Given the description of an element on the screen output the (x, y) to click on. 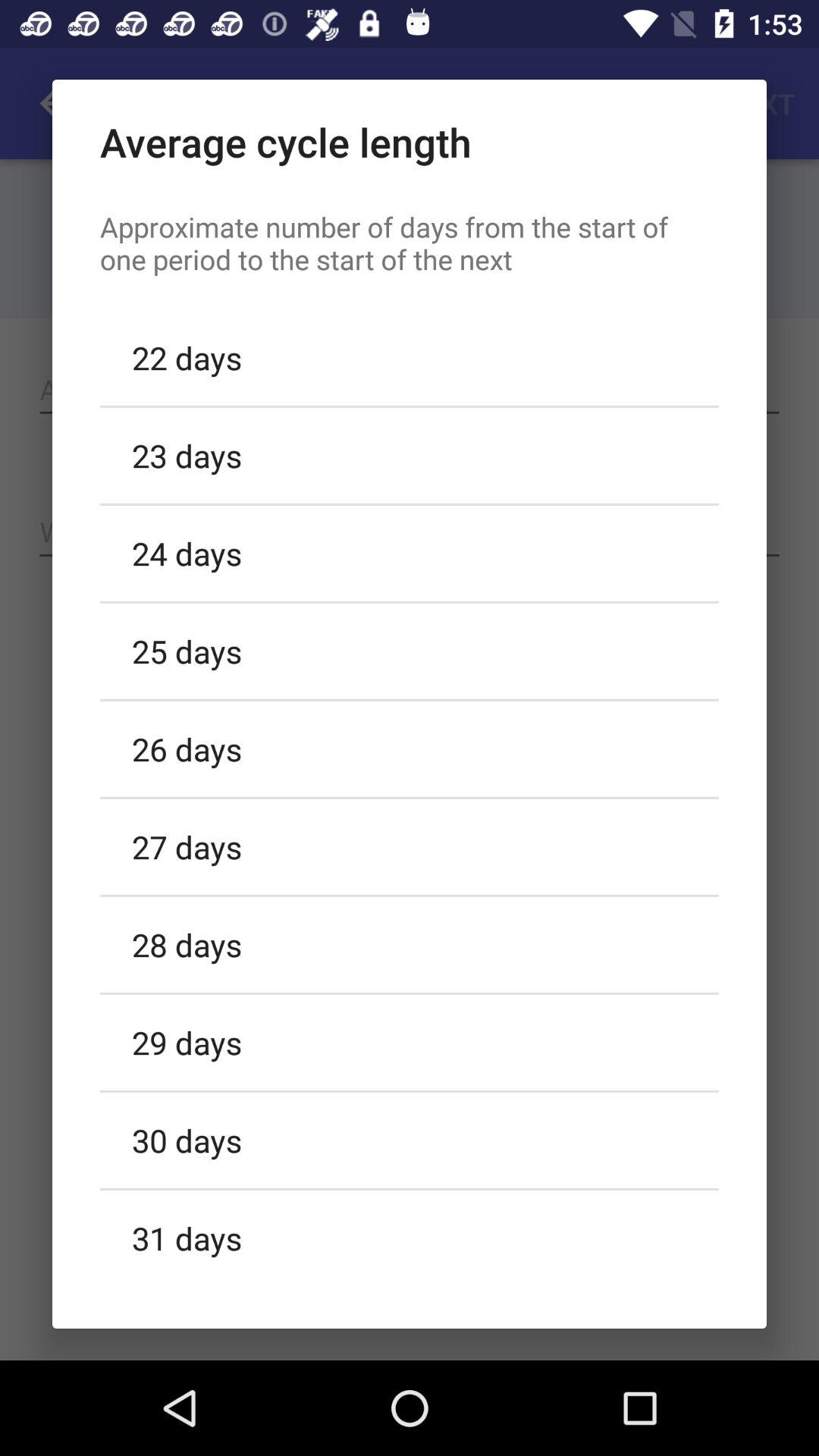
scroll to 29 days icon (409, 1042)
